Given the description of an element on the screen output the (x, y) to click on. 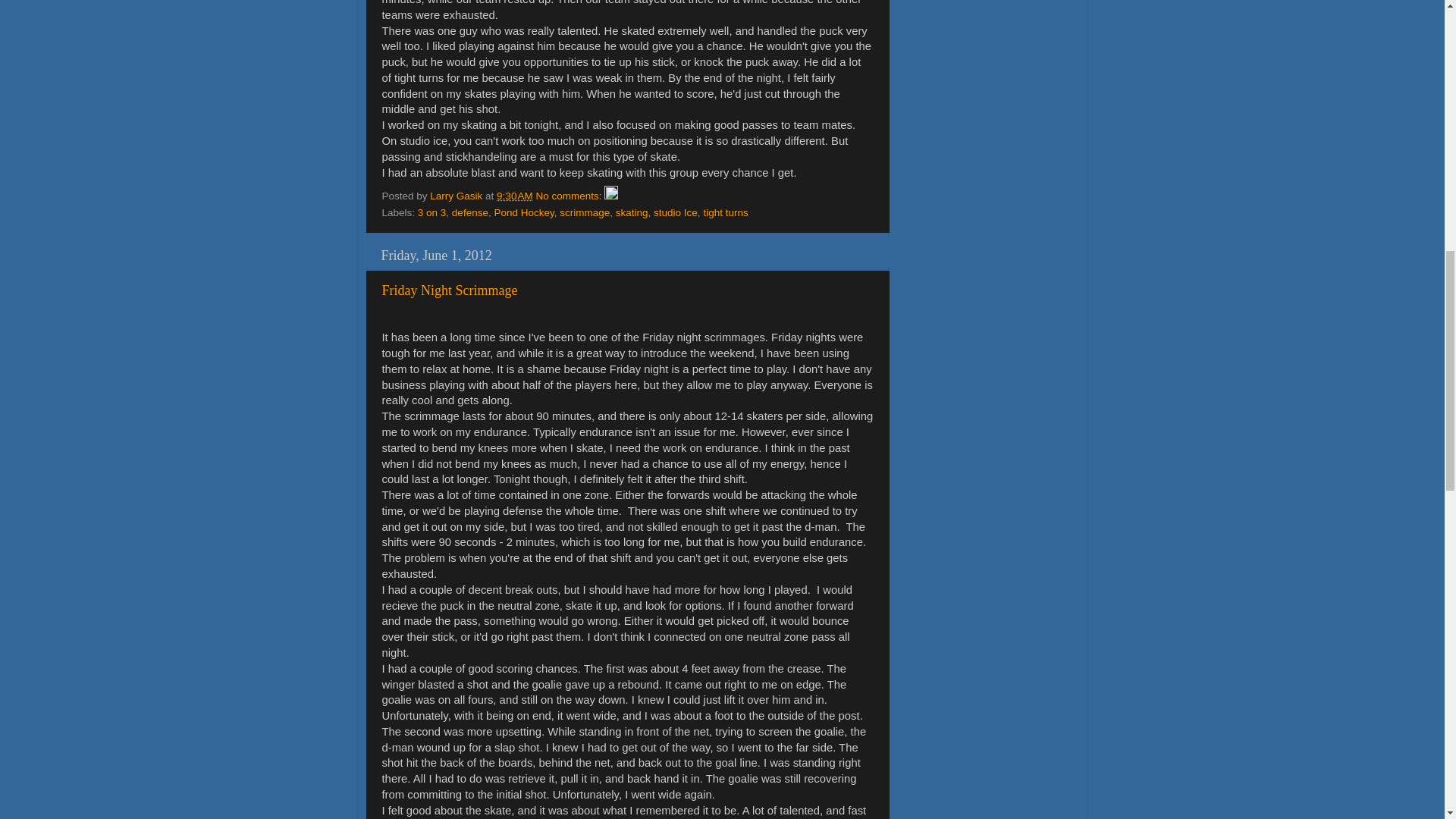
Friday Night Scrimmage (449, 290)
tight turns (725, 212)
skating (631, 212)
No comments: (570, 195)
3 on 3 (431, 212)
studio Ice (675, 212)
defense (469, 212)
permanent link (514, 195)
Edit Post (610, 195)
Pond Hockey (523, 212)
author profile (456, 195)
Larry Gasik (456, 195)
scrimmage (584, 212)
